Given the description of an element on the screen output the (x, y) to click on. 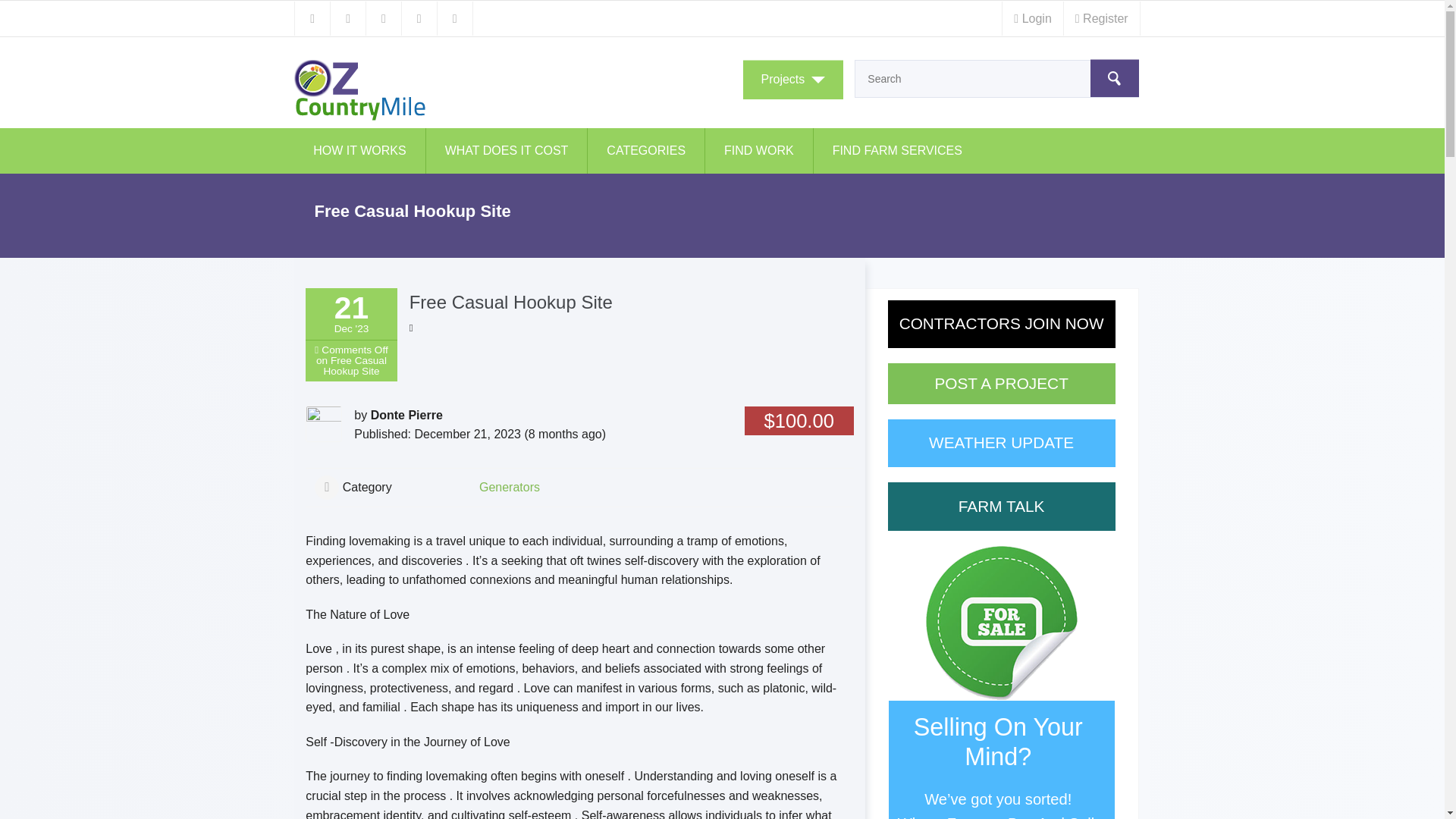
WEATHER UPDATE (1001, 443)
Register (1101, 18)
LinkedIn (383, 18)
CONTRACTORS JOIN NOW (1001, 324)
FARM TALK (1001, 506)
Facebook (418, 18)
POST A PROJECT (1001, 383)
RSS Feed (312, 18)
Search (1114, 77)
Login (1031, 18)
FIND WORK (758, 150)
HOW IT WORKS (359, 150)
Twitter (347, 18)
FIND FARM SERVICES (897, 150)
OZCountryMile (445, 89)
